Given the description of an element on the screen output the (x, y) to click on. 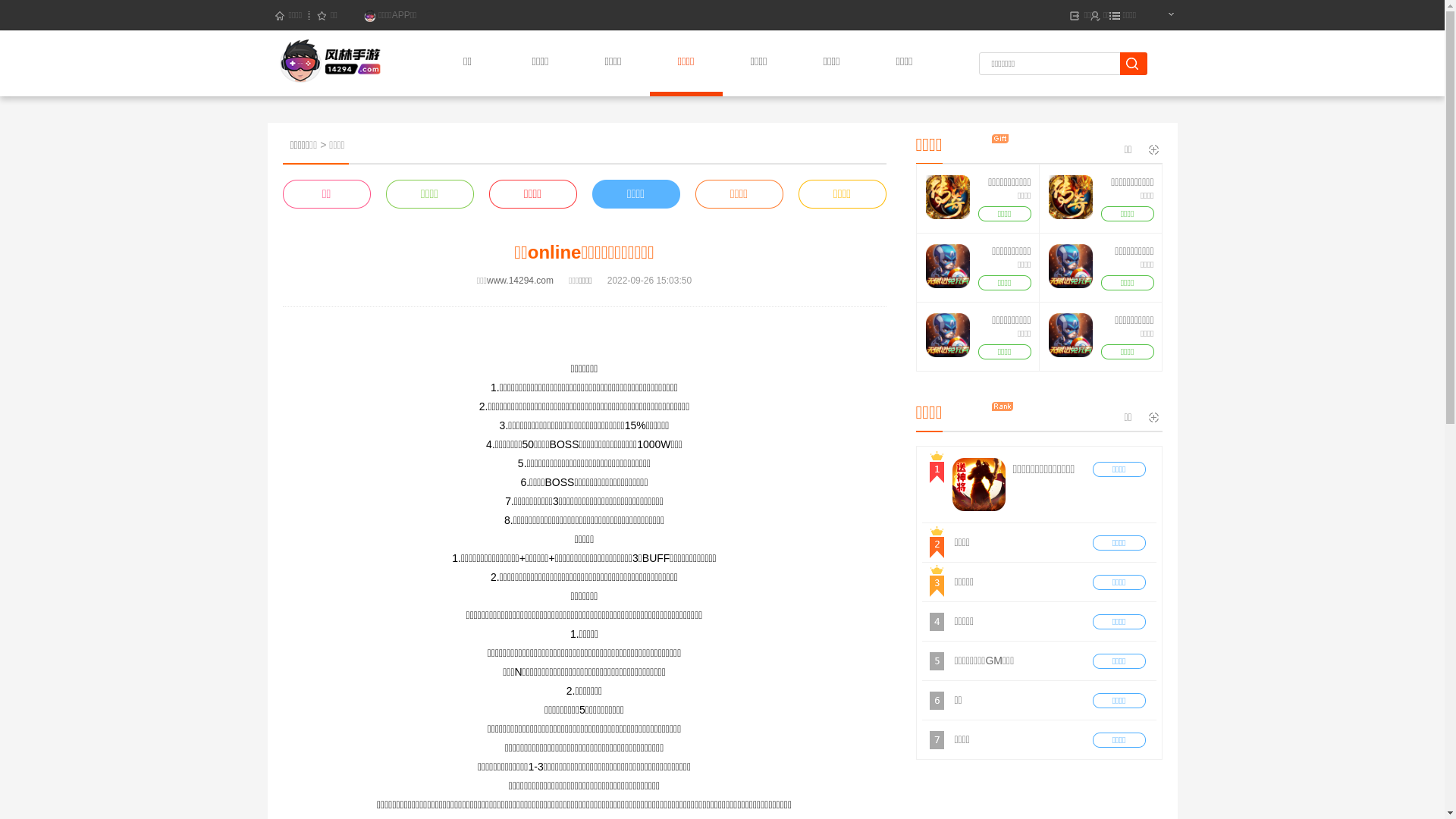
www.14294.com Element type: text (519, 280)
